Given the description of an element on the screen output the (x, y) to click on. 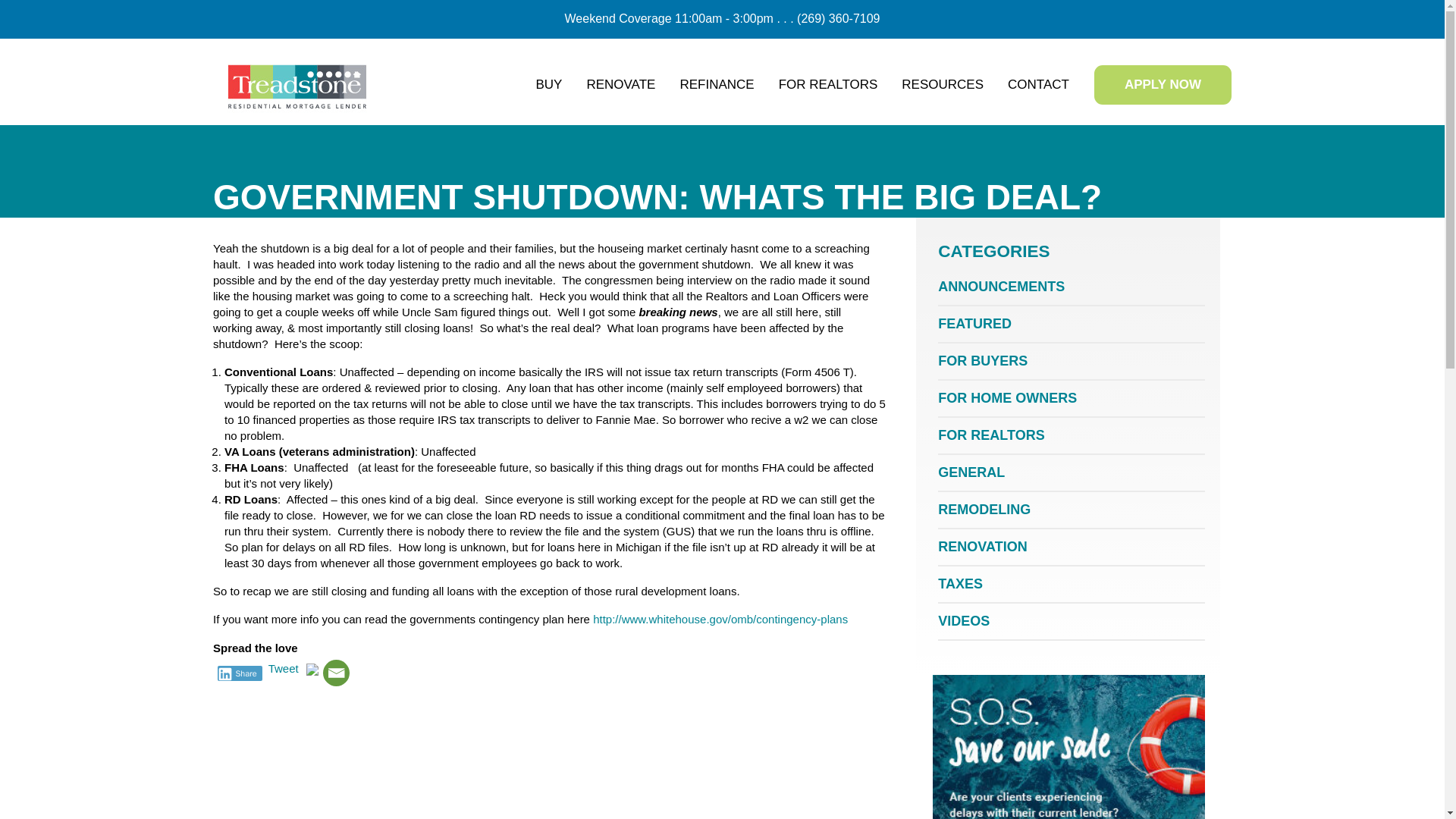
Email (336, 673)
RESOURCES (942, 84)
BUY (547, 84)
FOR REALTORS (828, 84)
REFINANCE (715, 84)
RENOVATE (619, 84)
